Given the description of an element on the screen output the (x, y) to click on. 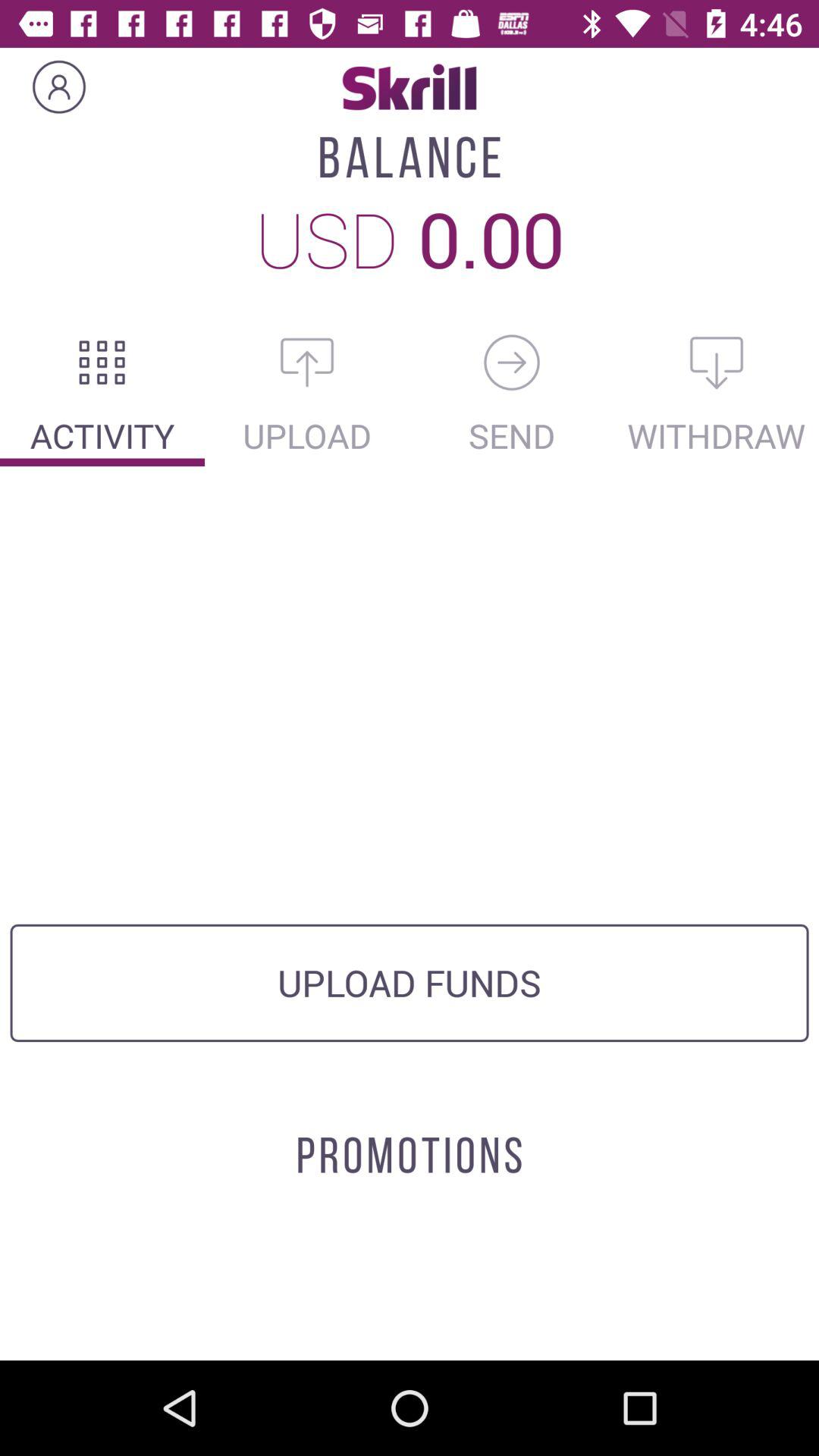
download option (716, 362)
